Given the description of an element on the screen output the (x, y) to click on. 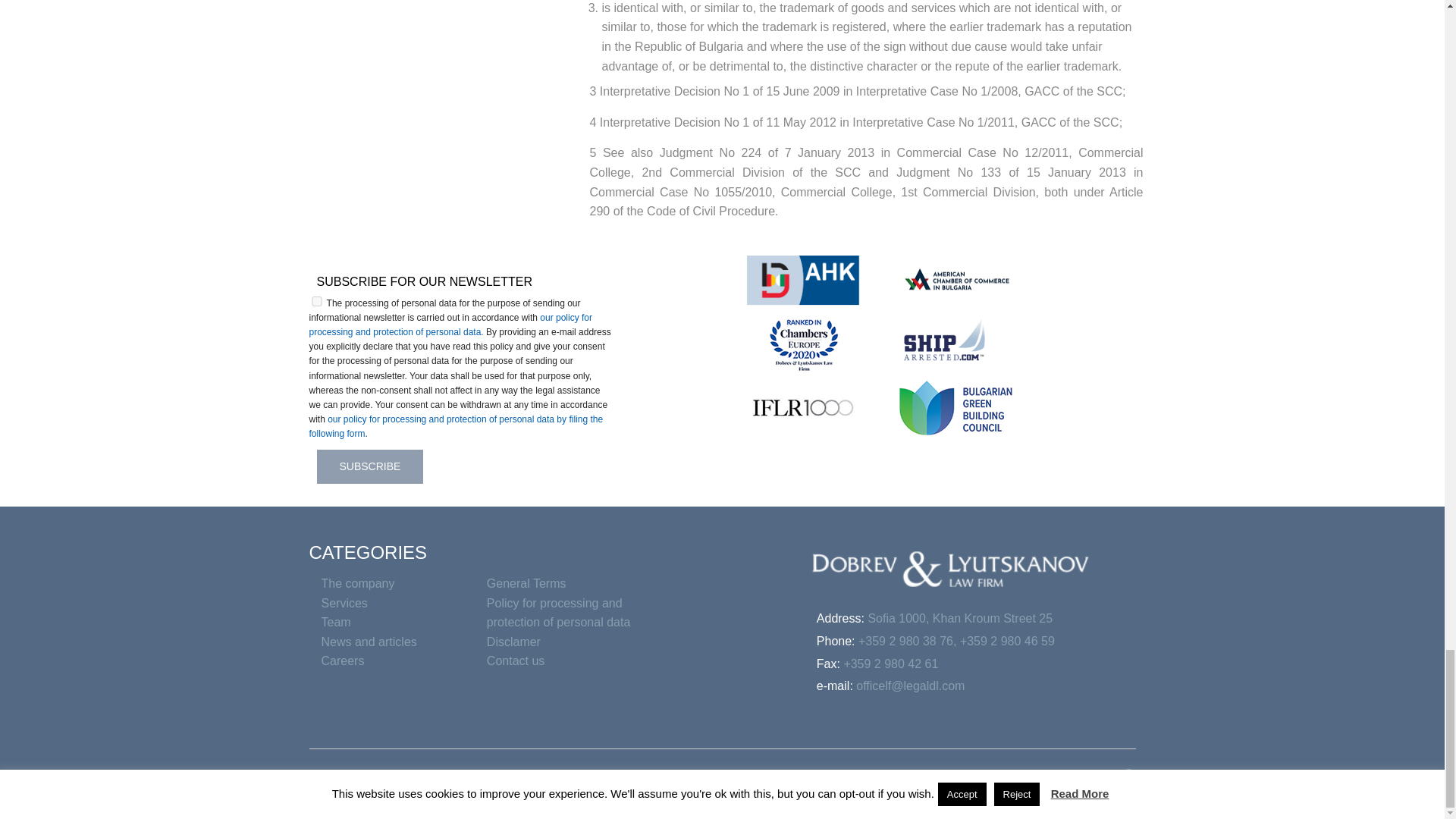
Webtech (1109, 783)
2 (316, 301)
